Given the description of an element on the screen output the (x, y) to click on. 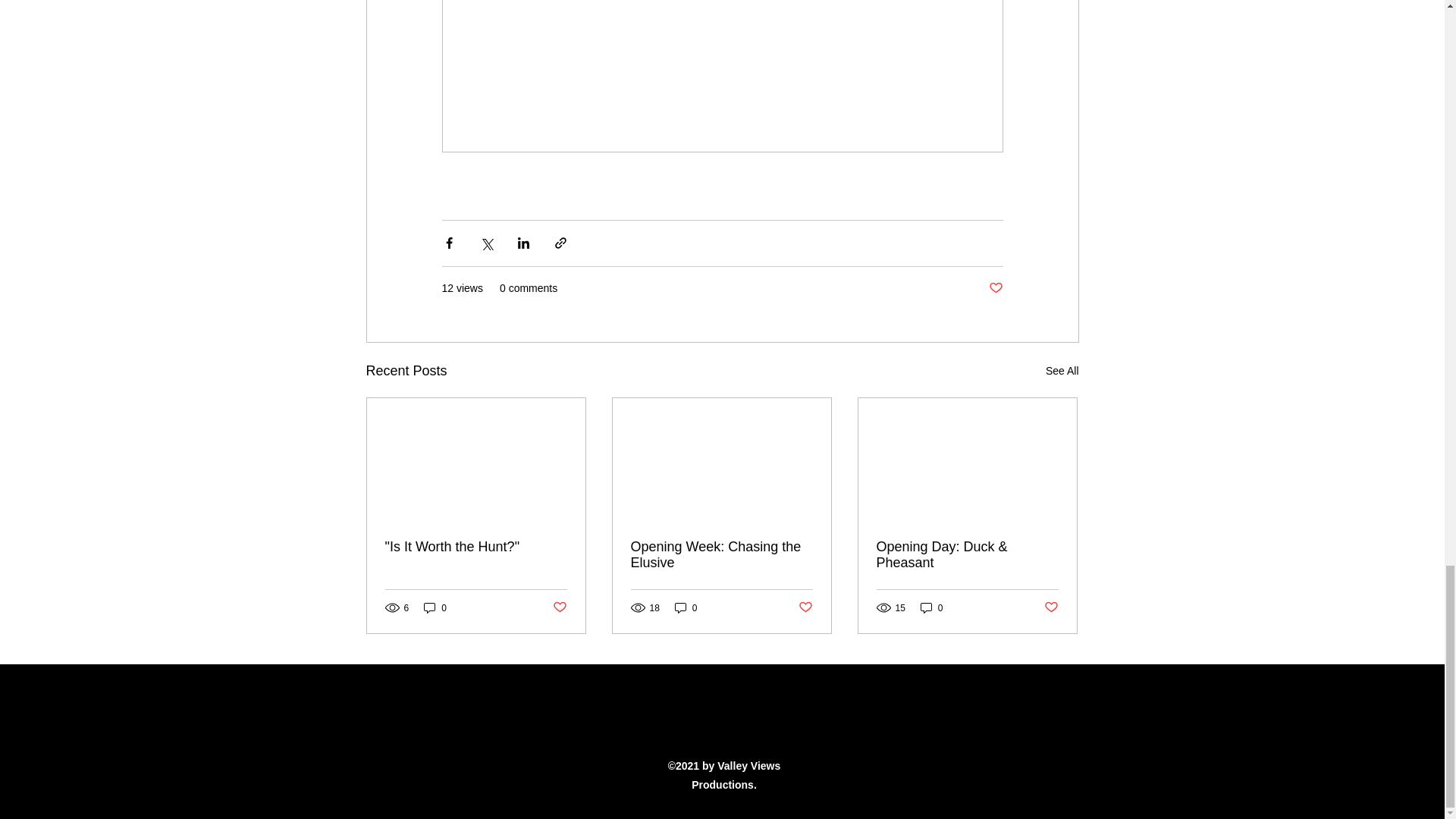
"Is It Worth the Hunt?" (476, 546)
0 (931, 607)
0 (435, 607)
Post not marked as liked (804, 607)
Post not marked as liked (558, 607)
See All (1061, 371)
Post not marked as liked (995, 288)
0 (685, 607)
Post not marked as liked (1050, 607)
Opening Week: Chasing the Elusive (721, 554)
